Given the description of an element on the screen output the (x, y) to click on. 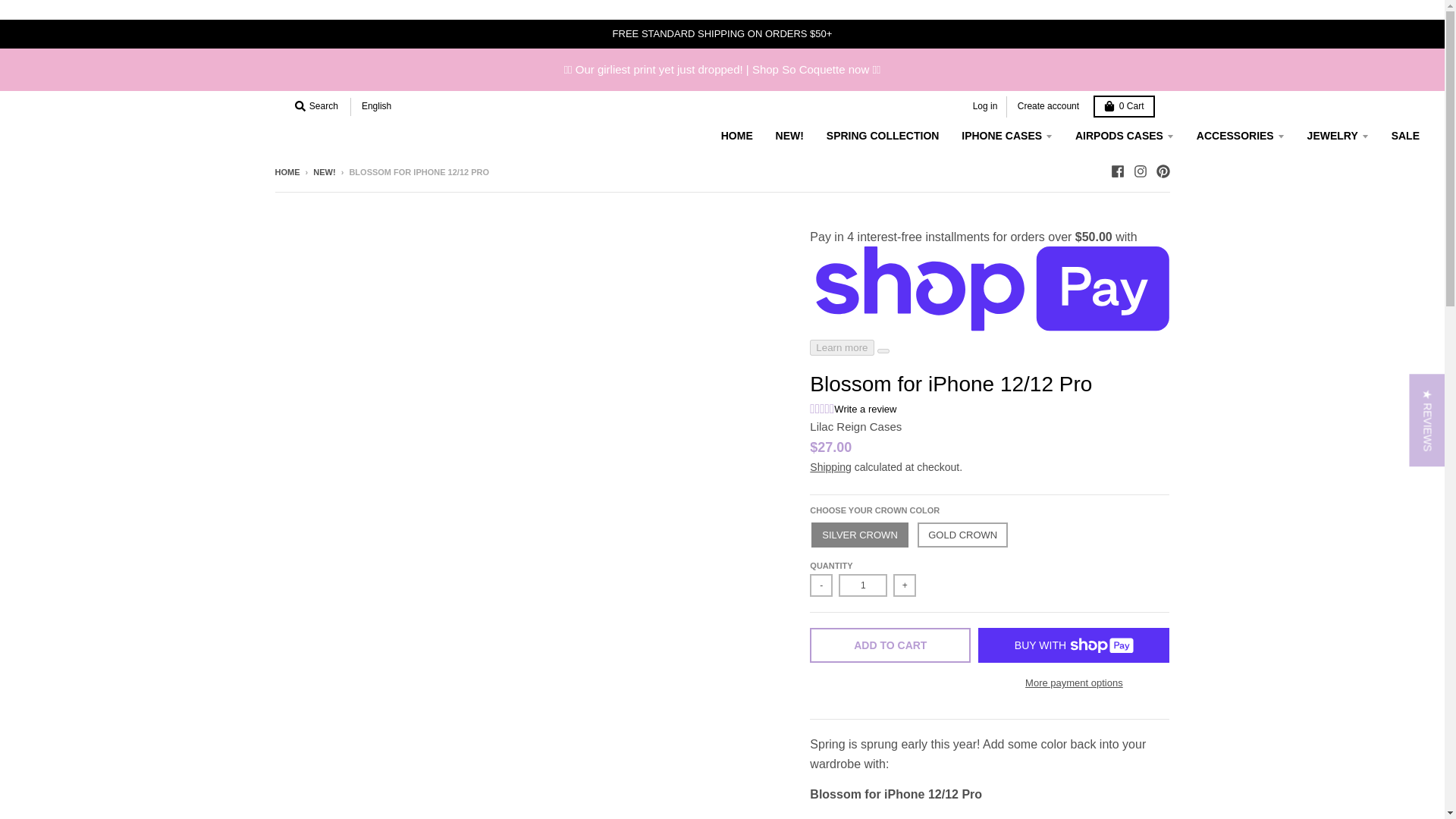
Log in (985, 106)
Search (315, 106)
Gold Crown (962, 534)
NEW! (789, 135)
Instagram - Lilac Reign Cases (1139, 171)
SPRING COLLECTION (882, 135)
HOME (736, 135)
Create account (1048, 106)
0 Cart (1123, 106)
Facebook - Lilac Reign Cases (1116, 171)
Silver Crown (858, 534)
Lilac Reign Cases (855, 426)
IPHONE CASES (1007, 135)
